Given the description of an element on the screen output the (x, y) to click on. 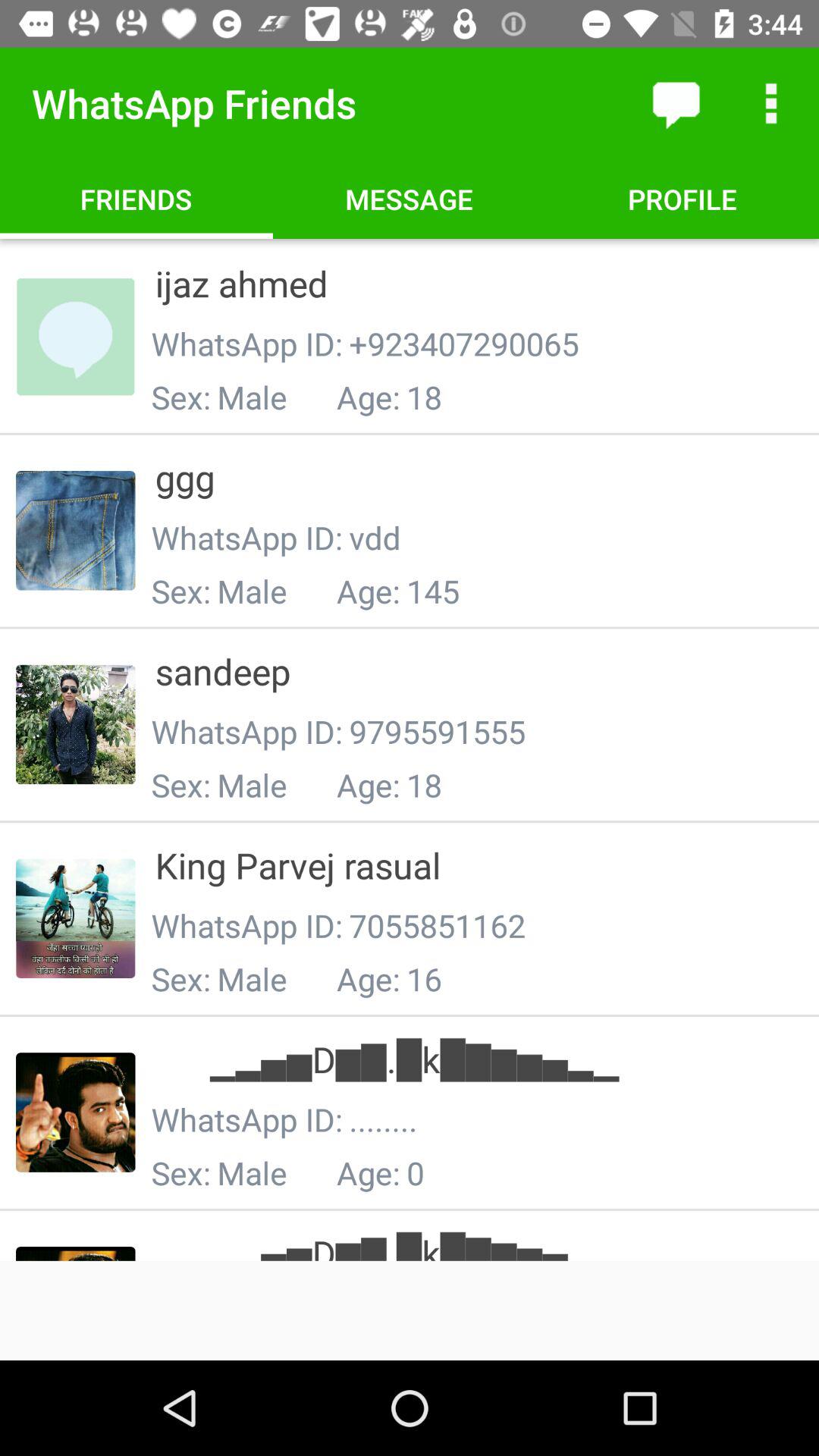
turn off the icon to the right of the whatsapp friends item (675, 103)
